Given the description of an element on the screen output the (x, y) to click on. 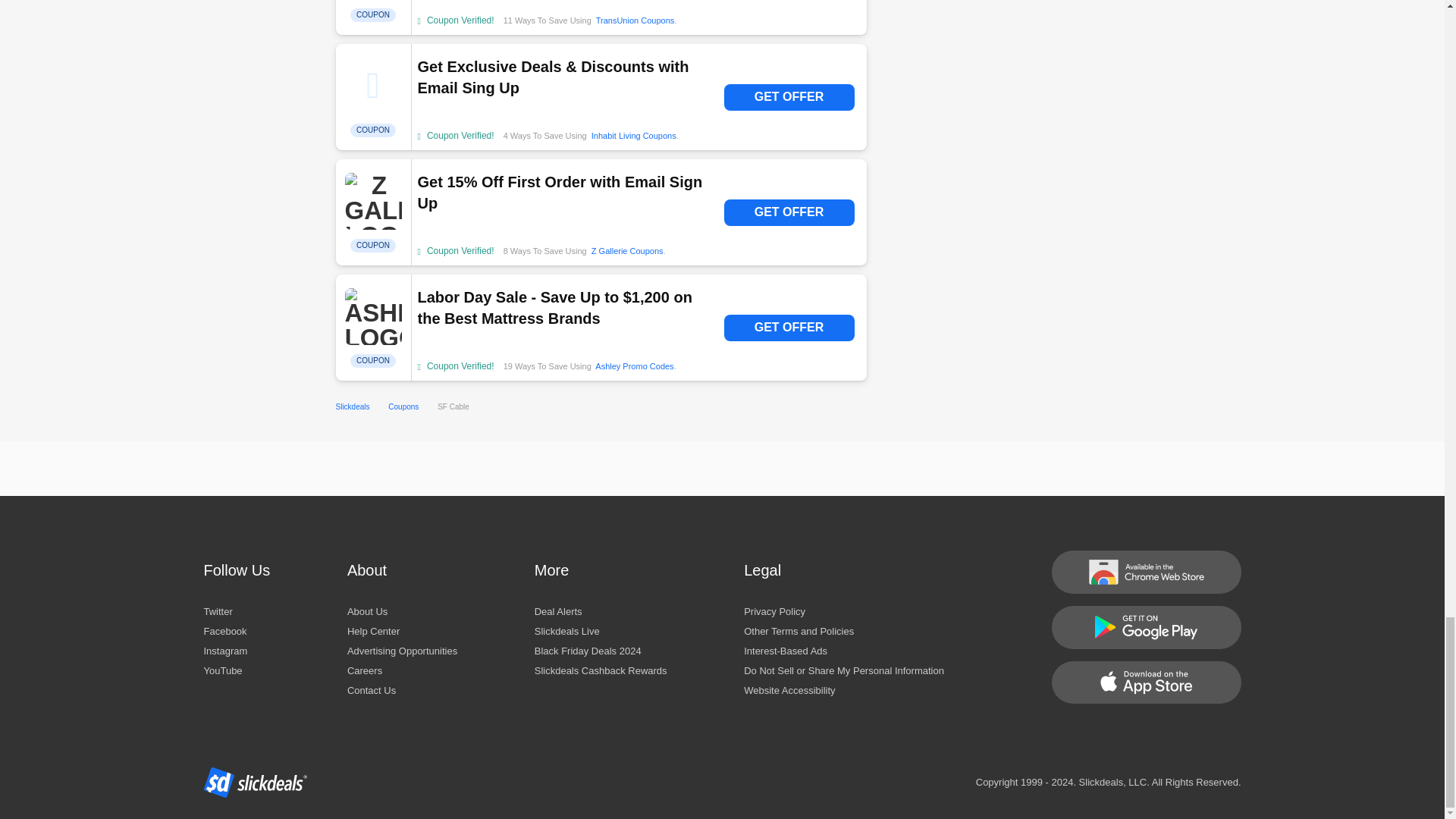
Install the Slickdeals iOS App (1145, 681)
Install the Slickdeals Android App (1145, 627)
Install the Slickdeals Extension (1145, 571)
